Given the description of an element on the screen output the (x, y) to click on. 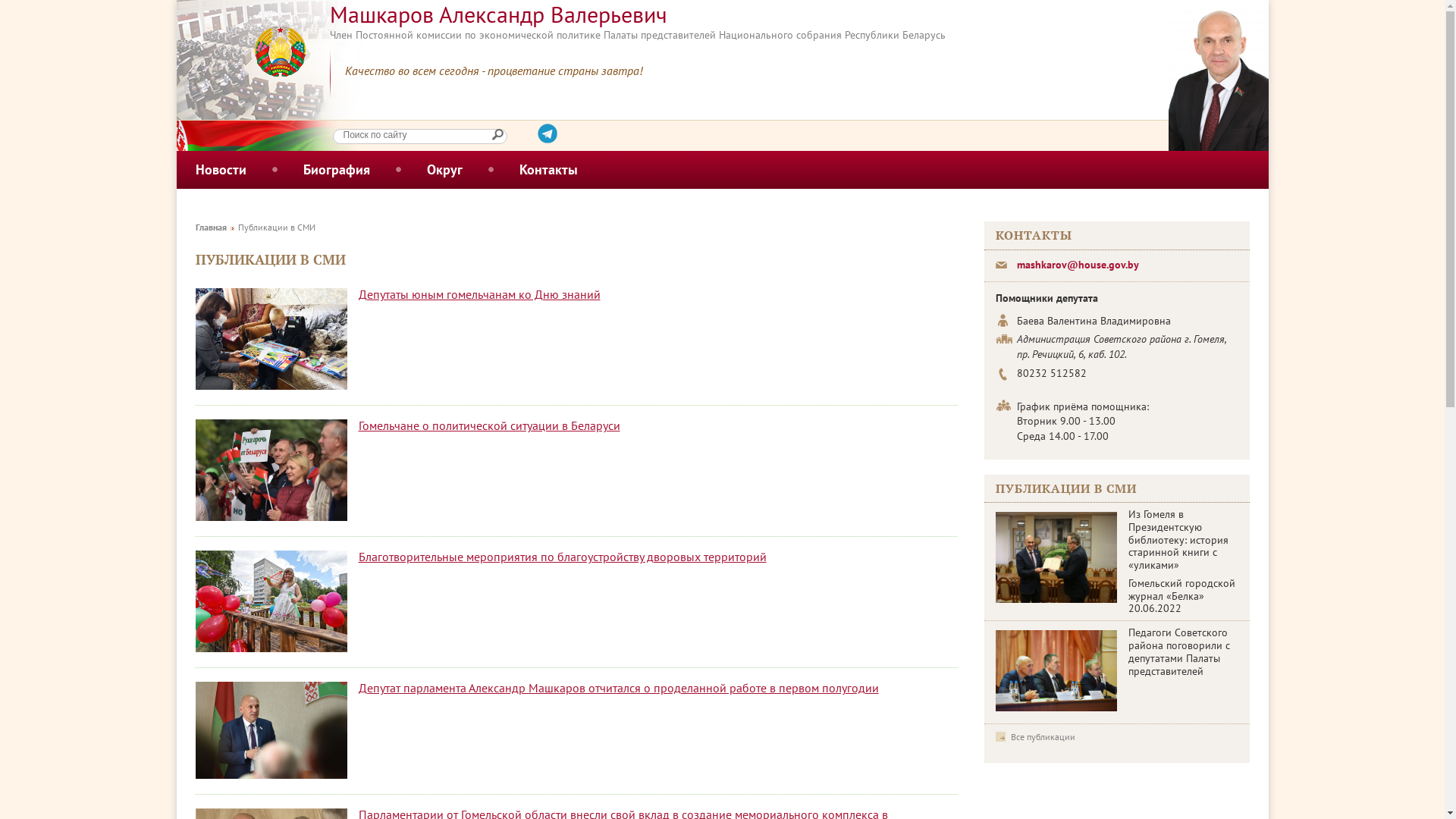
mashkarov@house.gov.by Element type: text (1077, 264)
Telegram Element type: hover (546, 133)
Telegram Element type: hover (546, 138)
